Given the description of an element on the screen output the (x, y) to click on. 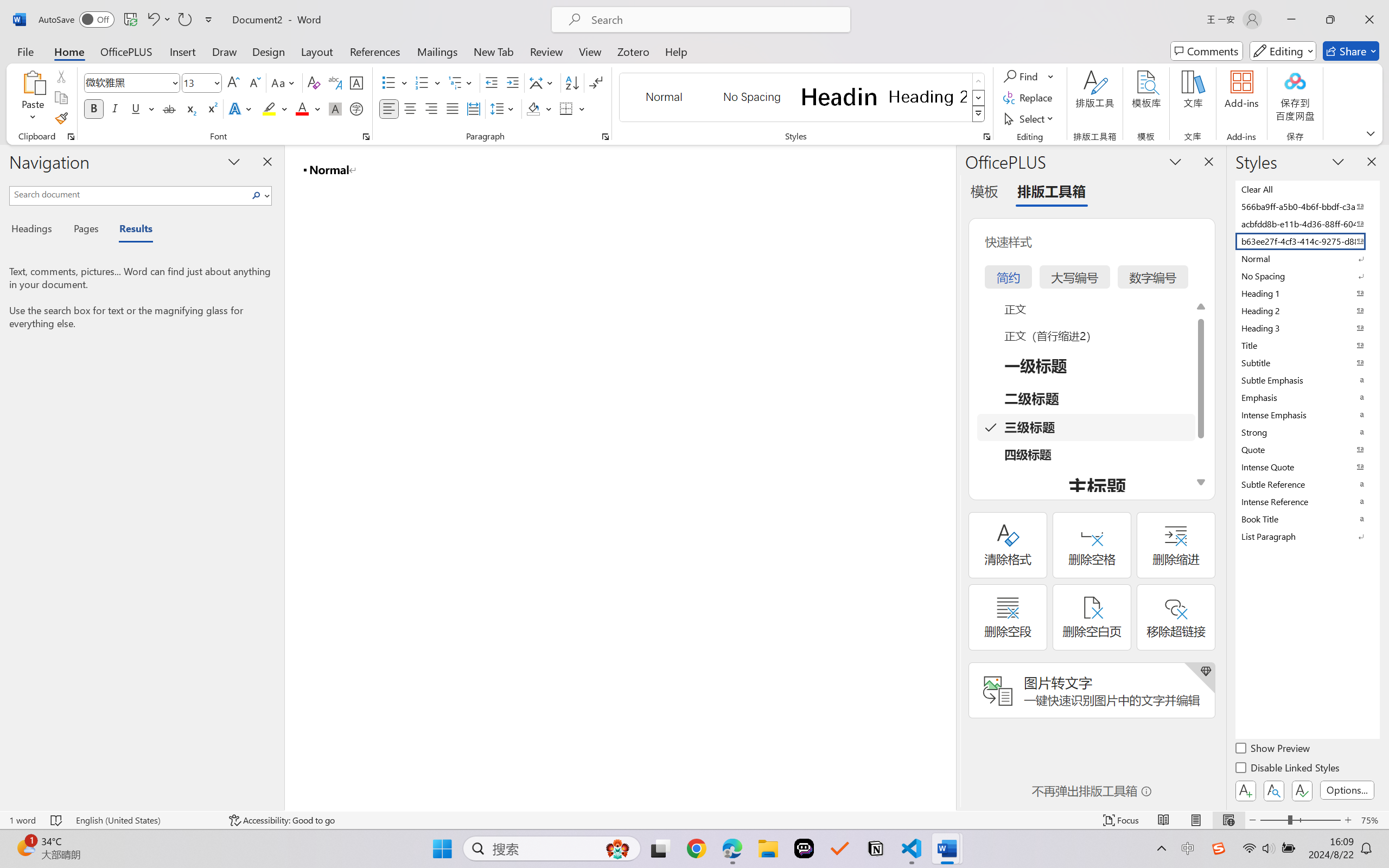
Paragraph... (605, 136)
Mailings (437, 51)
No Spacing (1306, 275)
Font... (365, 136)
566ba9ff-a5b0-4b6f-bbdf-c3ab41993fc2 (1306, 206)
Text Highlight Color (274, 108)
Strikethrough (169, 108)
Copy (60, 97)
Shrink Font (253, 82)
Subtitle (1306, 362)
Intense Quote (1306, 466)
Save (130, 19)
Numbering (428, 82)
